Given the description of an element on the screen output the (x, y) to click on. 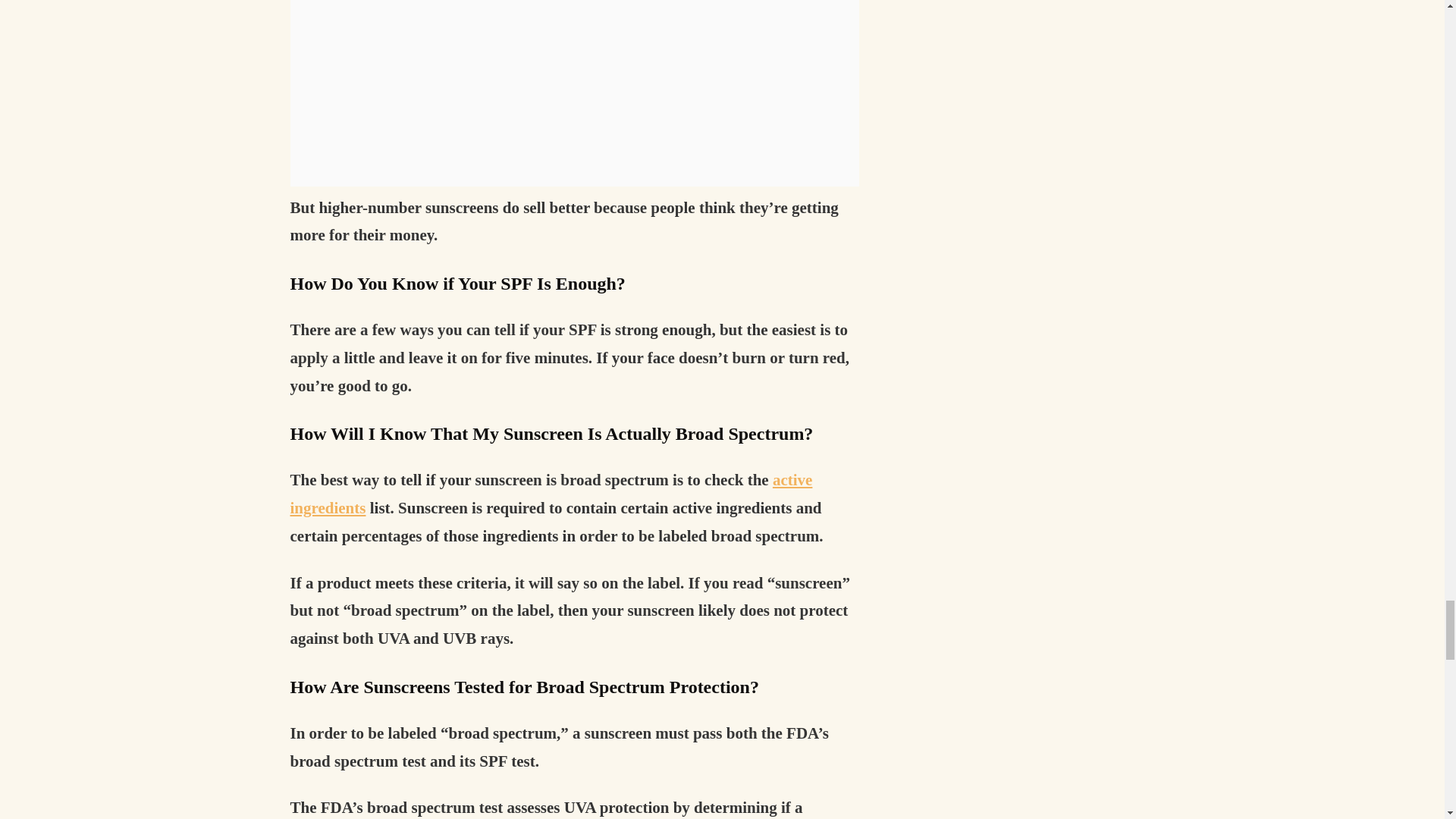
active ingredients (550, 493)
